Given the description of an element on the screen output the (x, y) to click on. 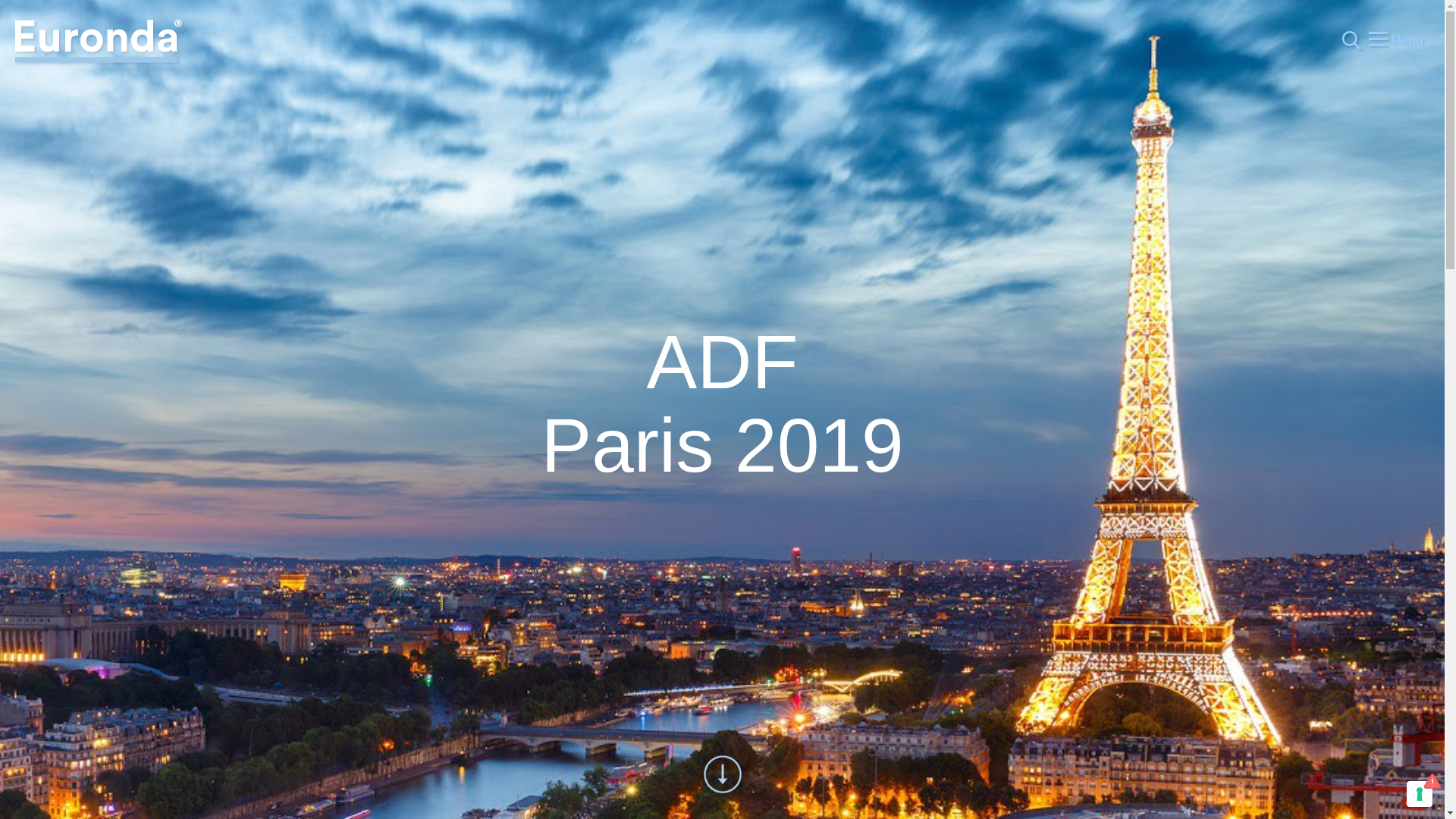
Search (47, 18)
